Given the description of an element on the screen output the (x, y) to click on. 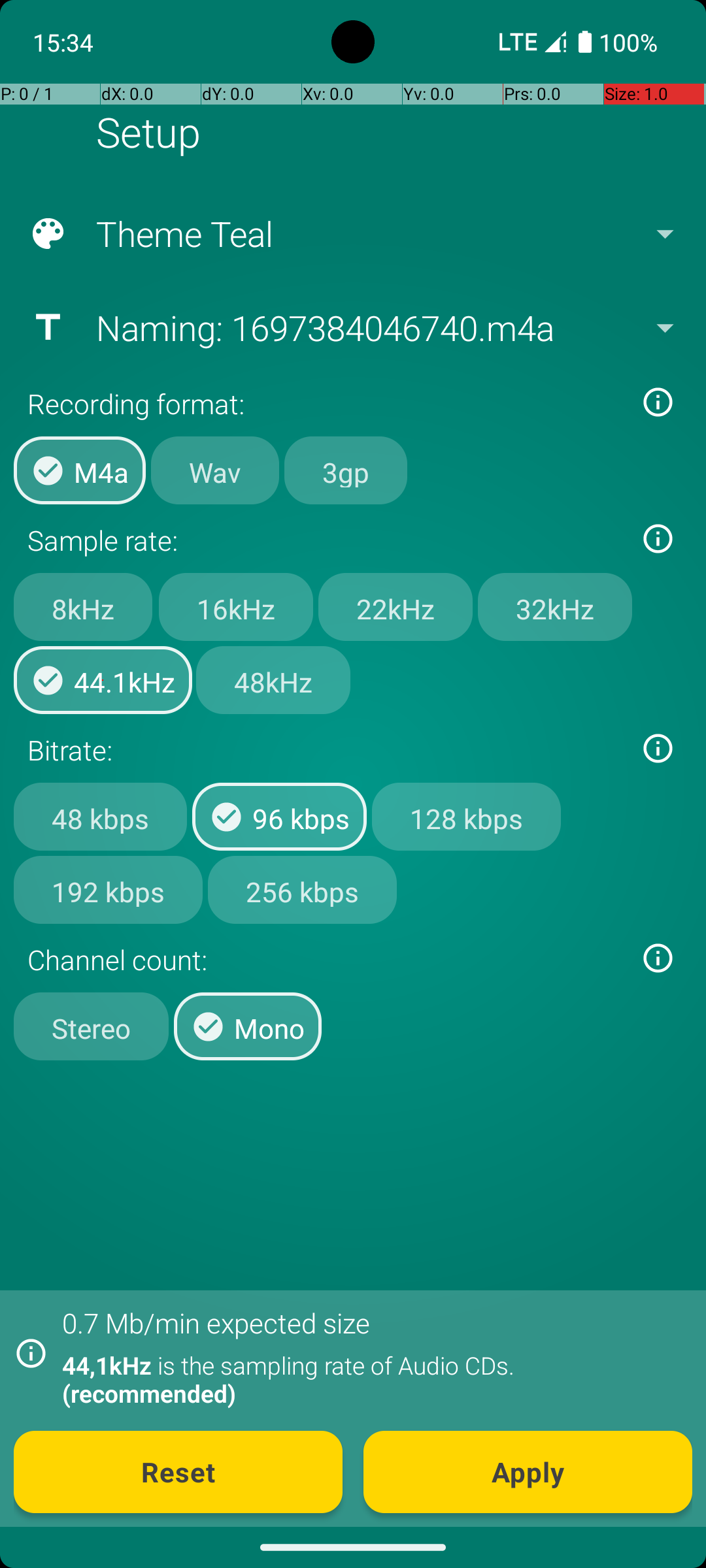
0.7 Mb/min expected size Element type: android.widget.TextView (215, 1322)
44,1kHz is the sampling rate of Audio CDs. (recommended) Element type: android.widget.TextView (370, 1378)
Theme Teal Element type: android.widget.TextView (352, 233)
Naming: 1697384046740.m4a Element type: android.widget.TextView (352, 327)
